Given the description of an element on the screen output the (x, y) to click on. 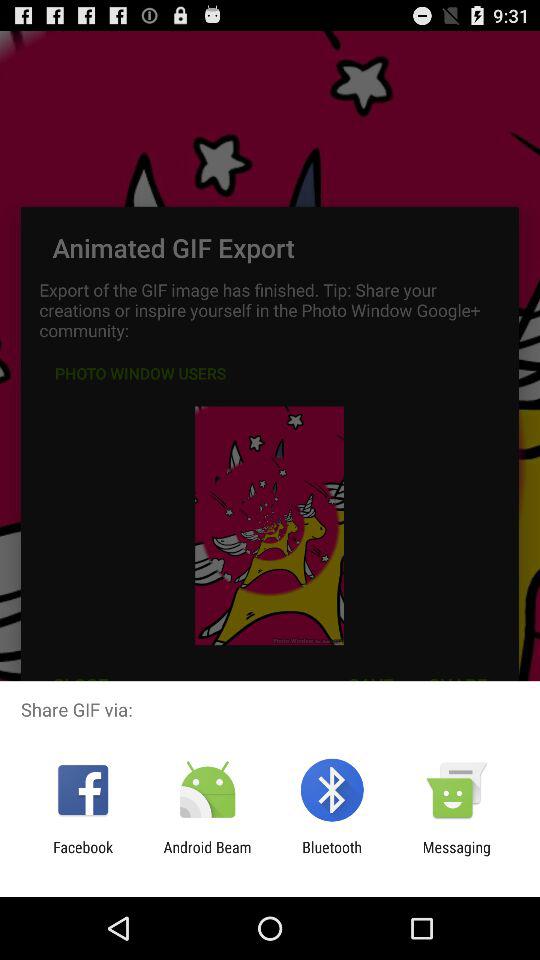
swipe to android beam item (207, 856)
